Given the description of an element on the screen output the (x, y) to click on. 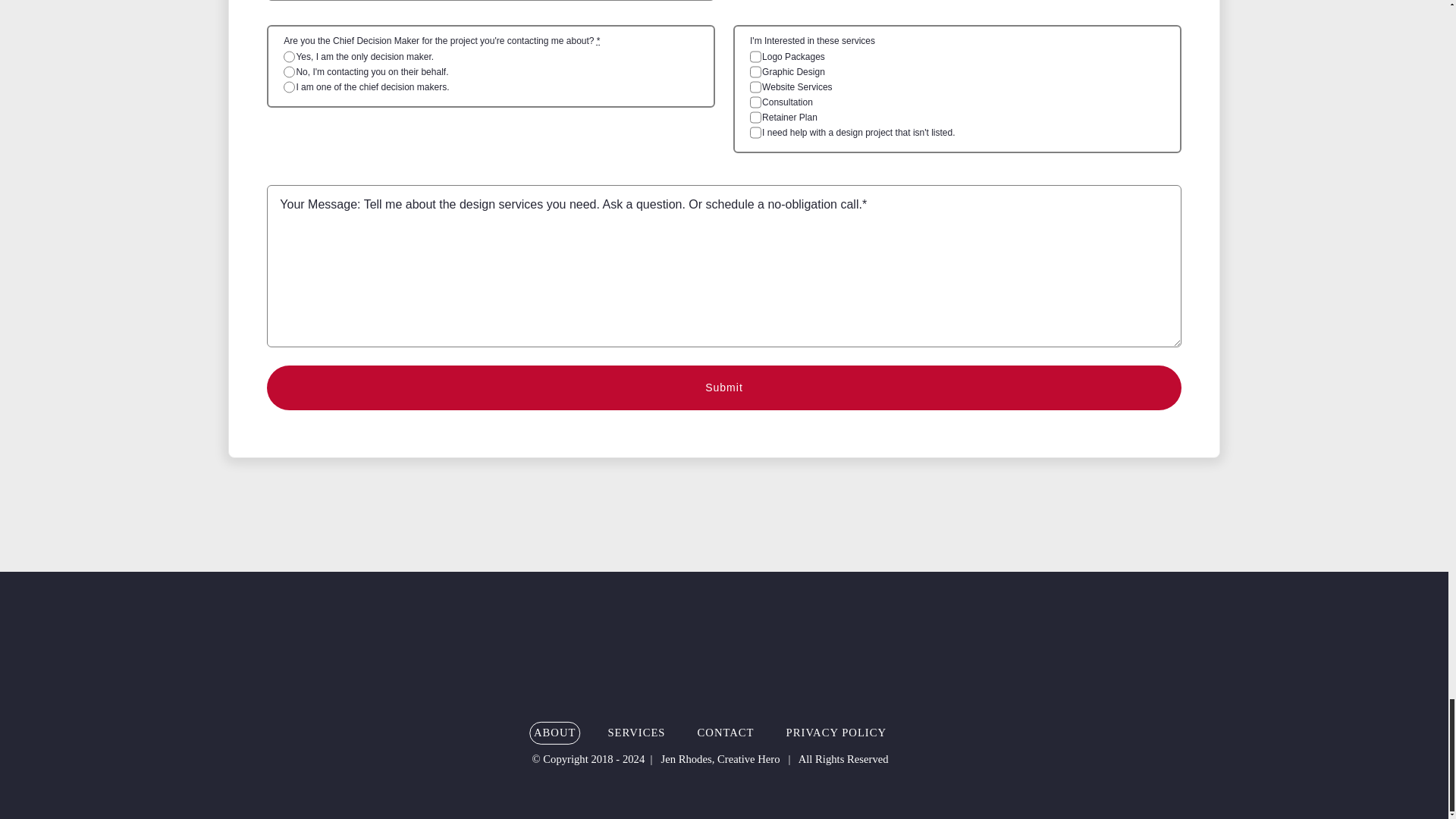
PRIVACY POLICY (836, 732)
Creative Hero (710, 657)
SERVICES (635, 732)
Submit (723, 387)
ABOUT (554, 732)
CONTACT (725, 732)
